Given the description of an element on the screen output the (x, y) to click on. 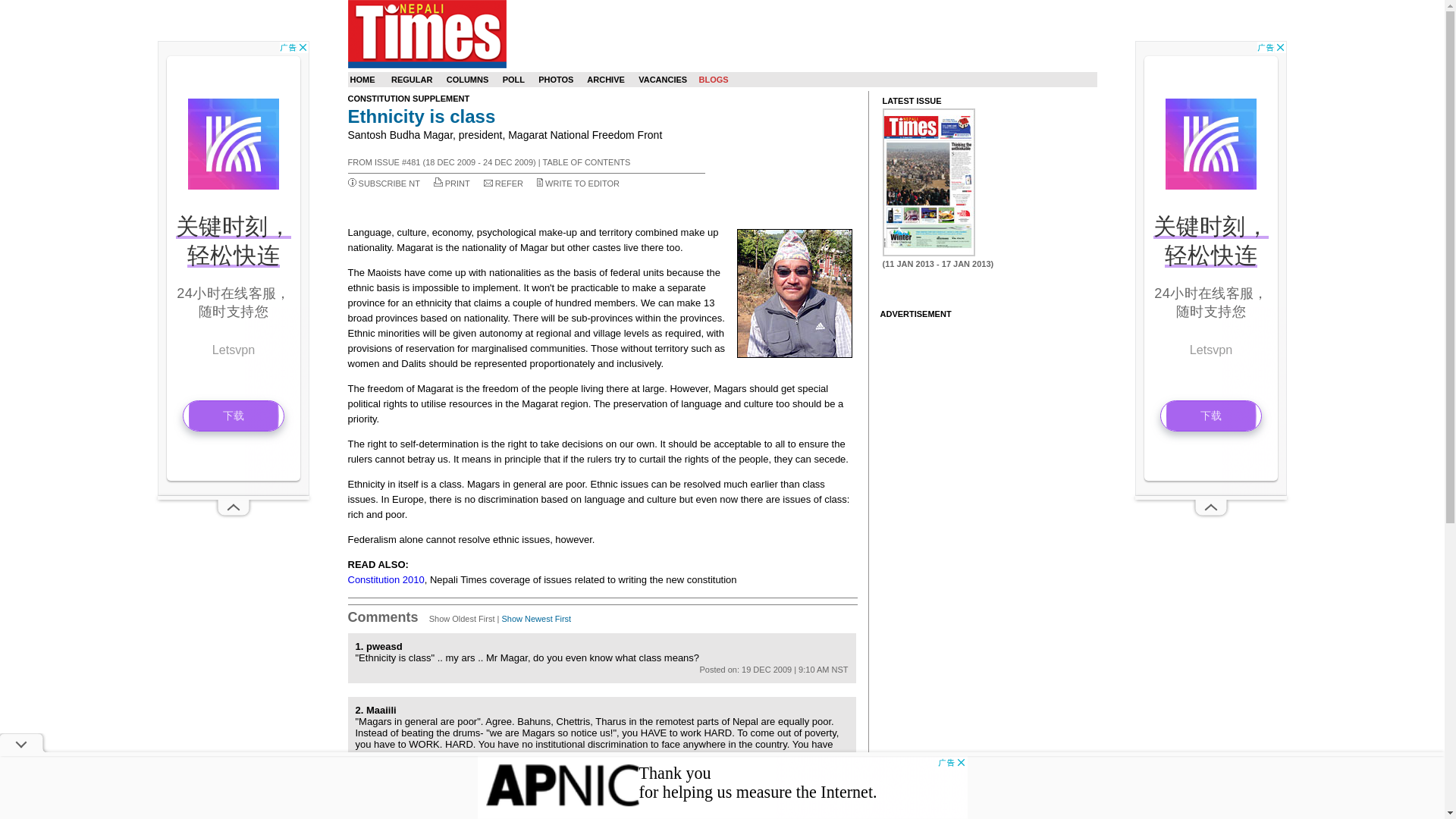
COLUMNS (467, 79)
TABLE OF CONTENTS (586, 162)
PRINT (458, 183)
Nepali Times (426, 33)
PHOTOS (555, 79)
VACANCIES (663, 79)
WRITE TO EDITOR (582, 183)
ARCHIVE (605, 79)
Show Newest First (535, 618)
REFER (508, 183)
SUBSCRIBE NT (389, 183)
REGULAR (411, 79)
Show Newest First (535, 618)
Constitution 2010 (385, 579)
Advertisement (722, 787)
